Given the description of an element on the screen output the (x, y) to click on. 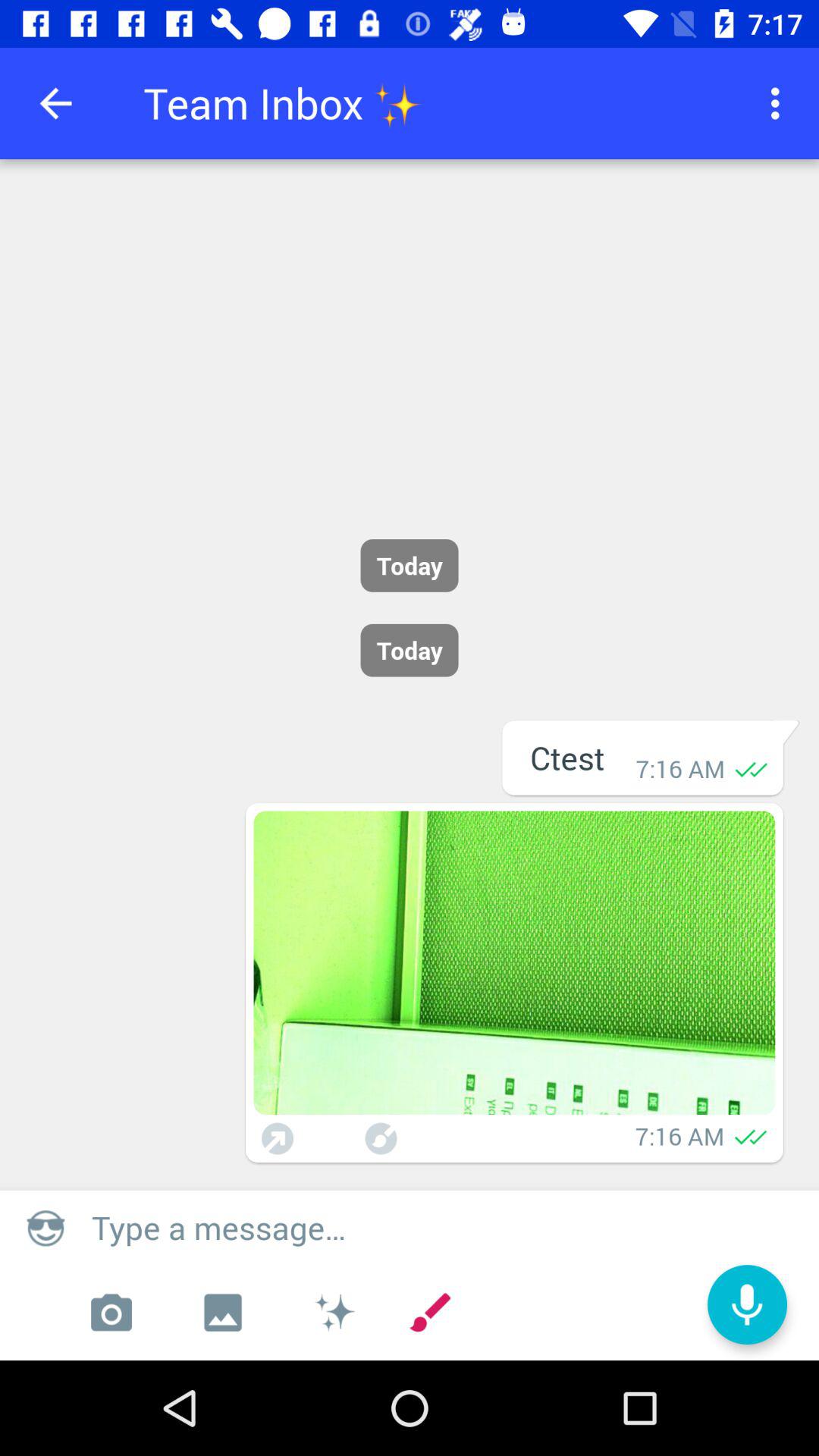
paintbrush option (380, 1138)
